Given the description of an element on the screen output the (x, y) to click on. 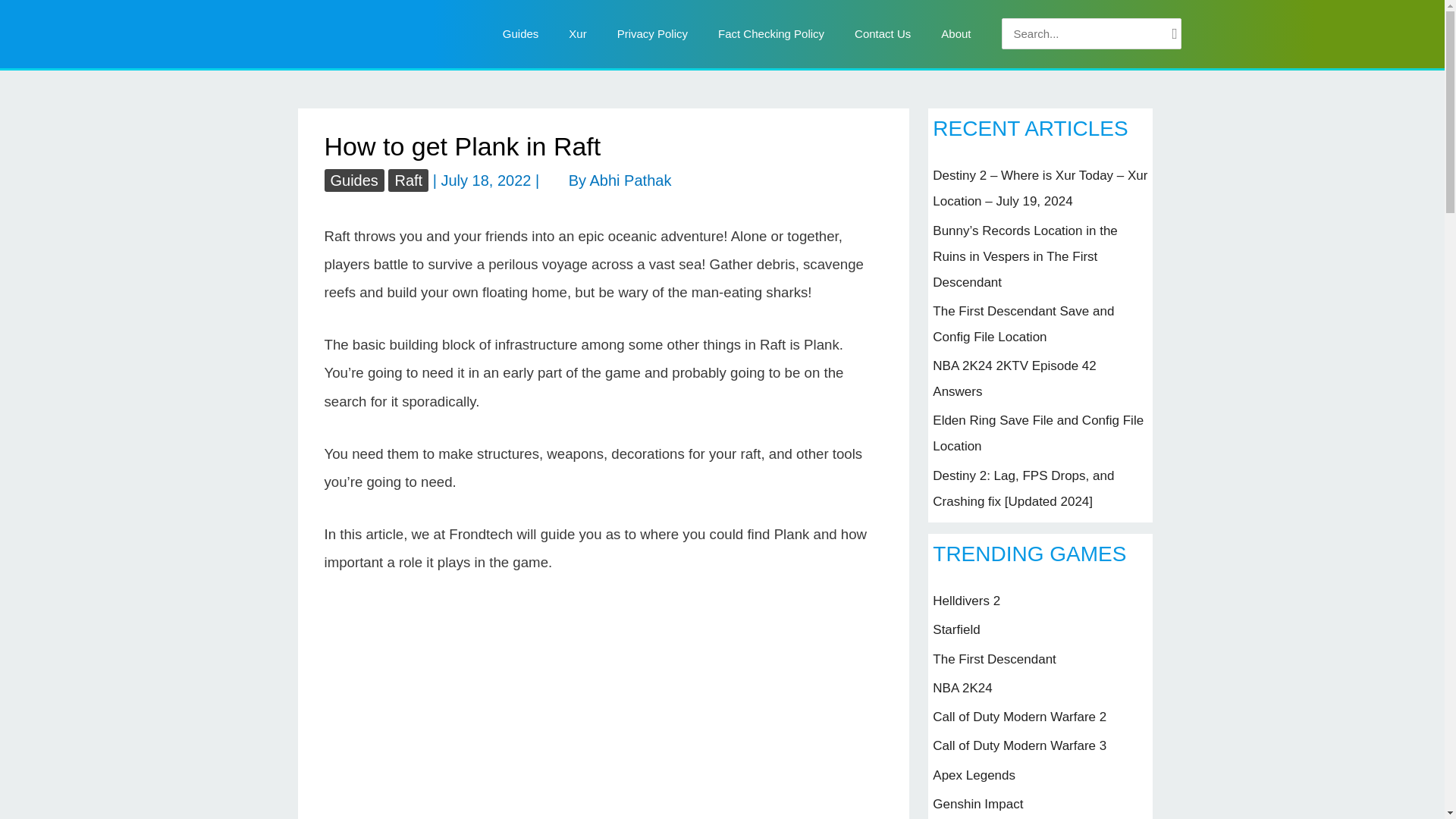
Helldivers 2 (966, 600)
View all posts by Abhi Pathak (630, 180)
Guides (354, 179)
Fact Checking Policy (771, 33)
Apex Legends (973, 775)
Privacy Policy (652, 33)
The First Descendant Save and Config File Location (1023, 323)
Elden Ring Save File and Config File Location (1037, 433)
Raft (408, 179)
Contact Us (883, 33)
Abhi Pathak (630, 180)
The First Descendant (995, 658)
Guides (520, 33)
NBA 2K24 2KTV Episode 42 Answers (1014, 378)
Call of Duty Modern Warfare 3 (1019, 745)
